Given the description of an element on the screen output the (x, y) to click on. 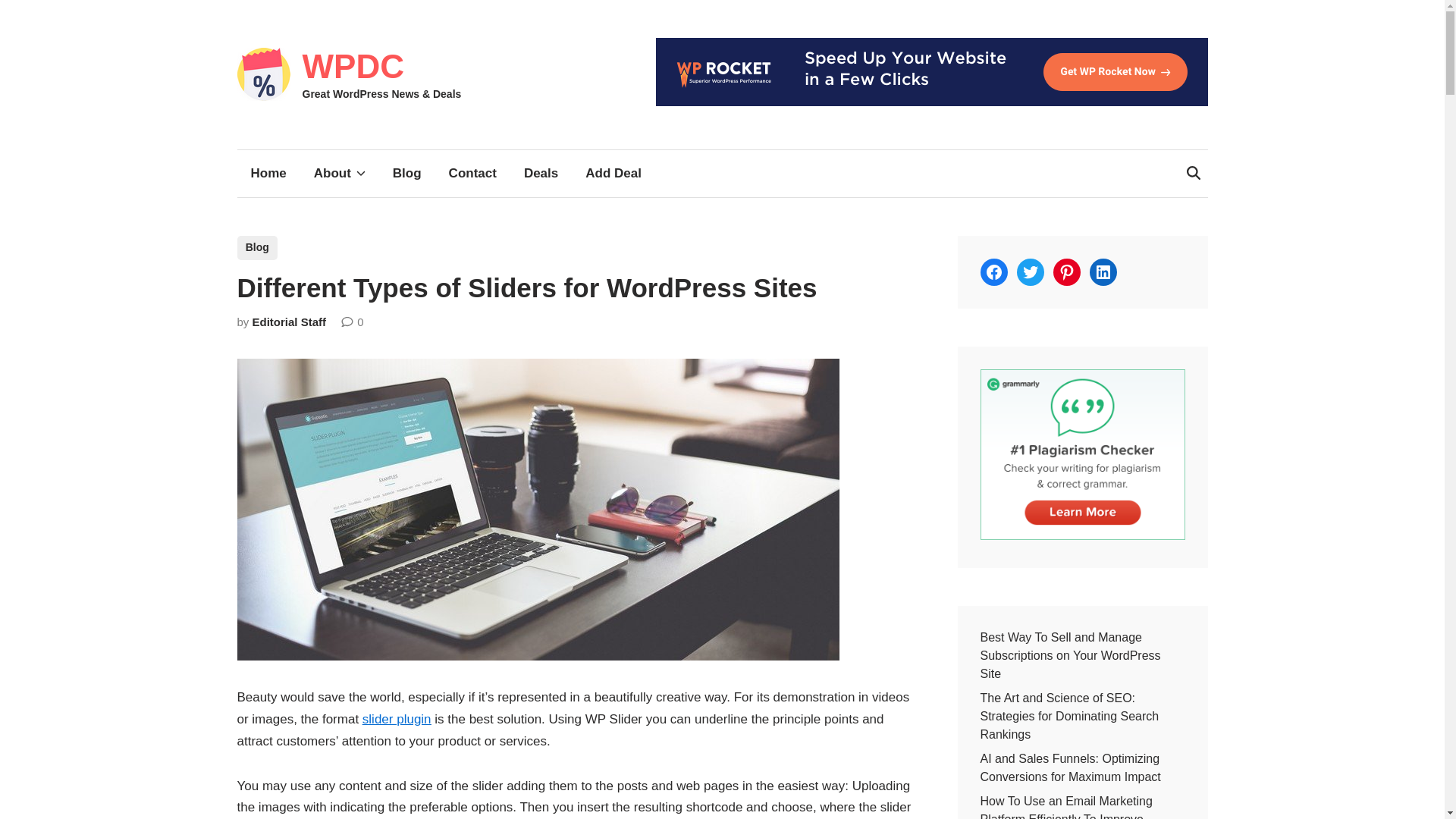
Home (267, 173)
Deals (541, 173)
Blog (255, 247)
Add Deal (613, 173)
About (338, 173)
slider plugin (396, 718)
Editorial Staff (288, 321)
Contact (473, 173)
Blog (406, 173)
WPDC (352, 66)
